Given the description of an element on the screen output the (x, y) to click on. 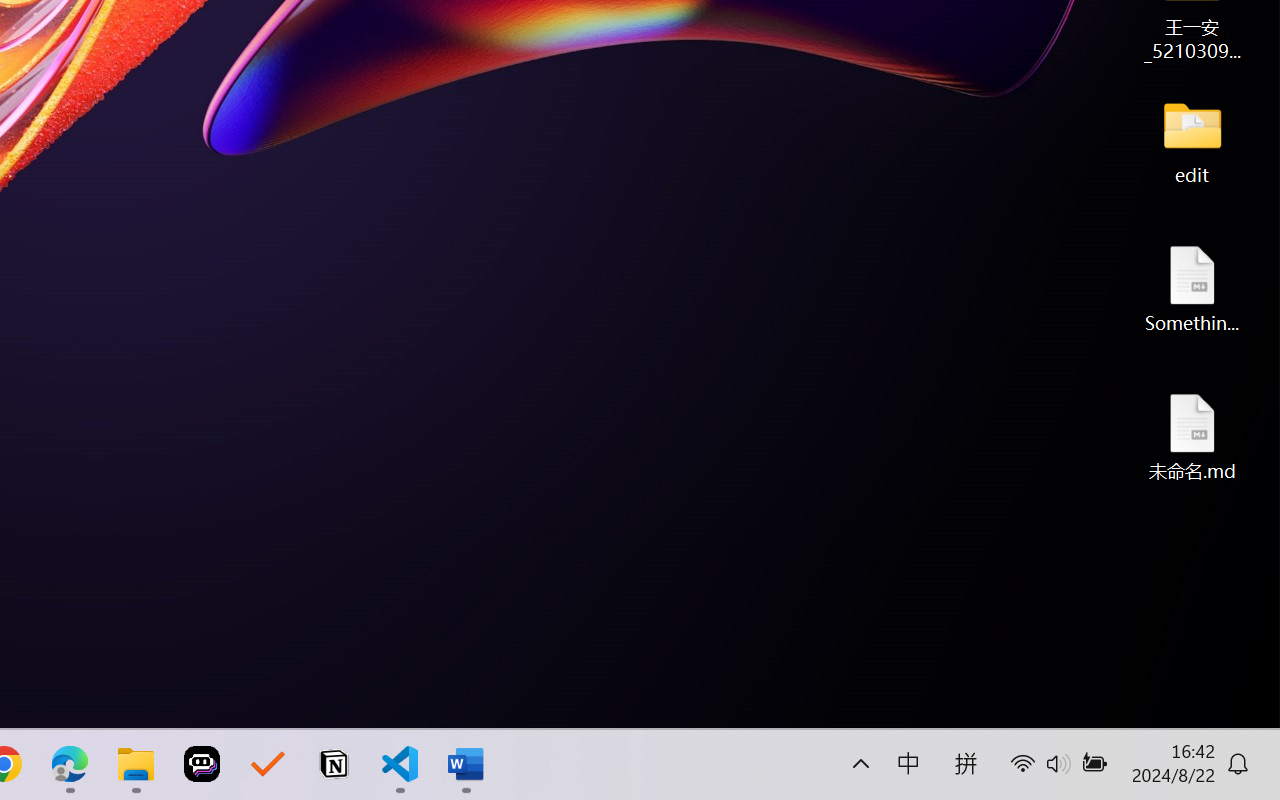
Something.md (1192, 288)
